Given the description of an element on the screen output the (x, y) to click on. 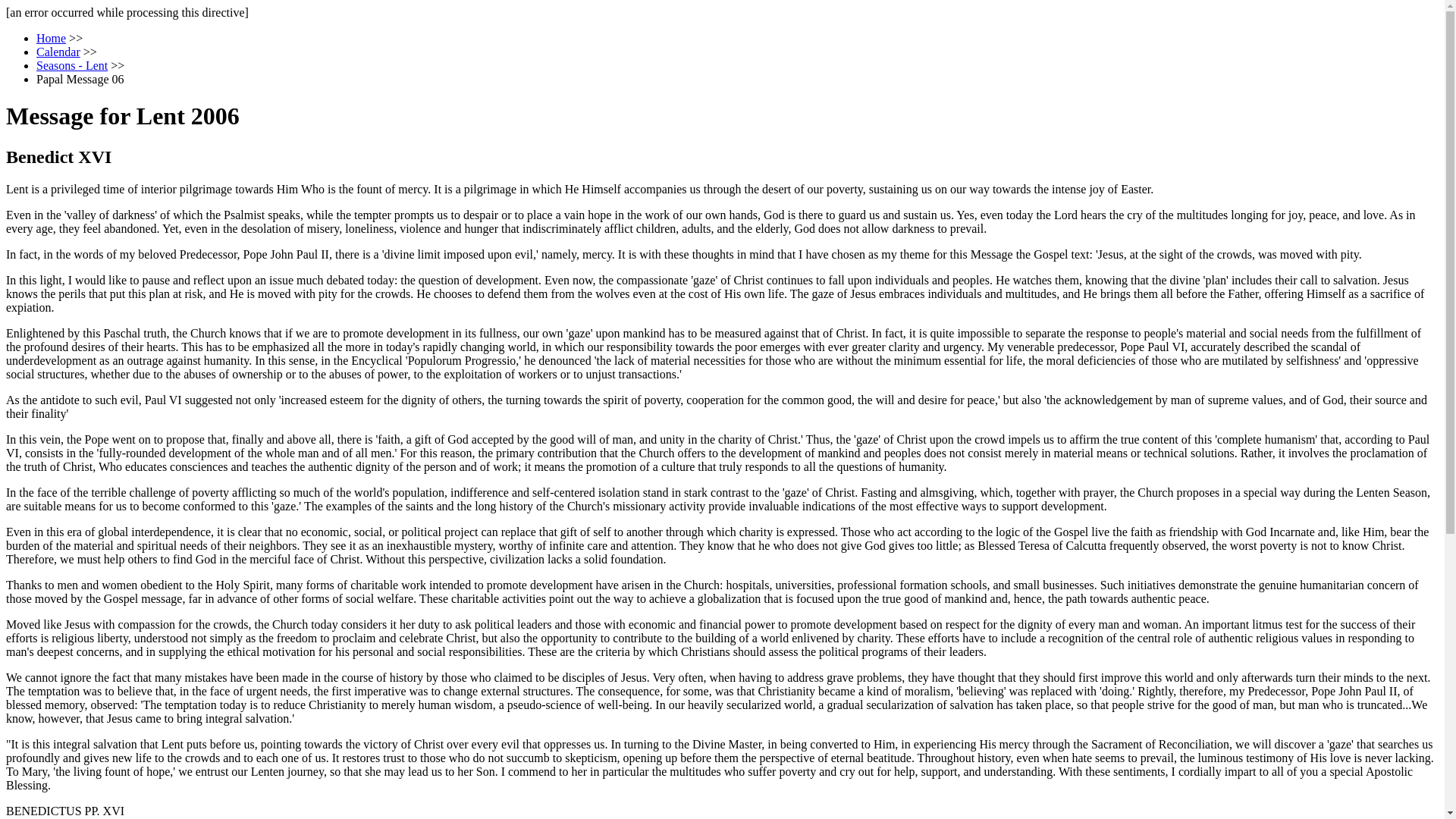
Calendar (58, 51)
Seasons - Lent (71, 65)
Home (50, 38)
